Given the description of an element on the screen output the (x, y) to click on. 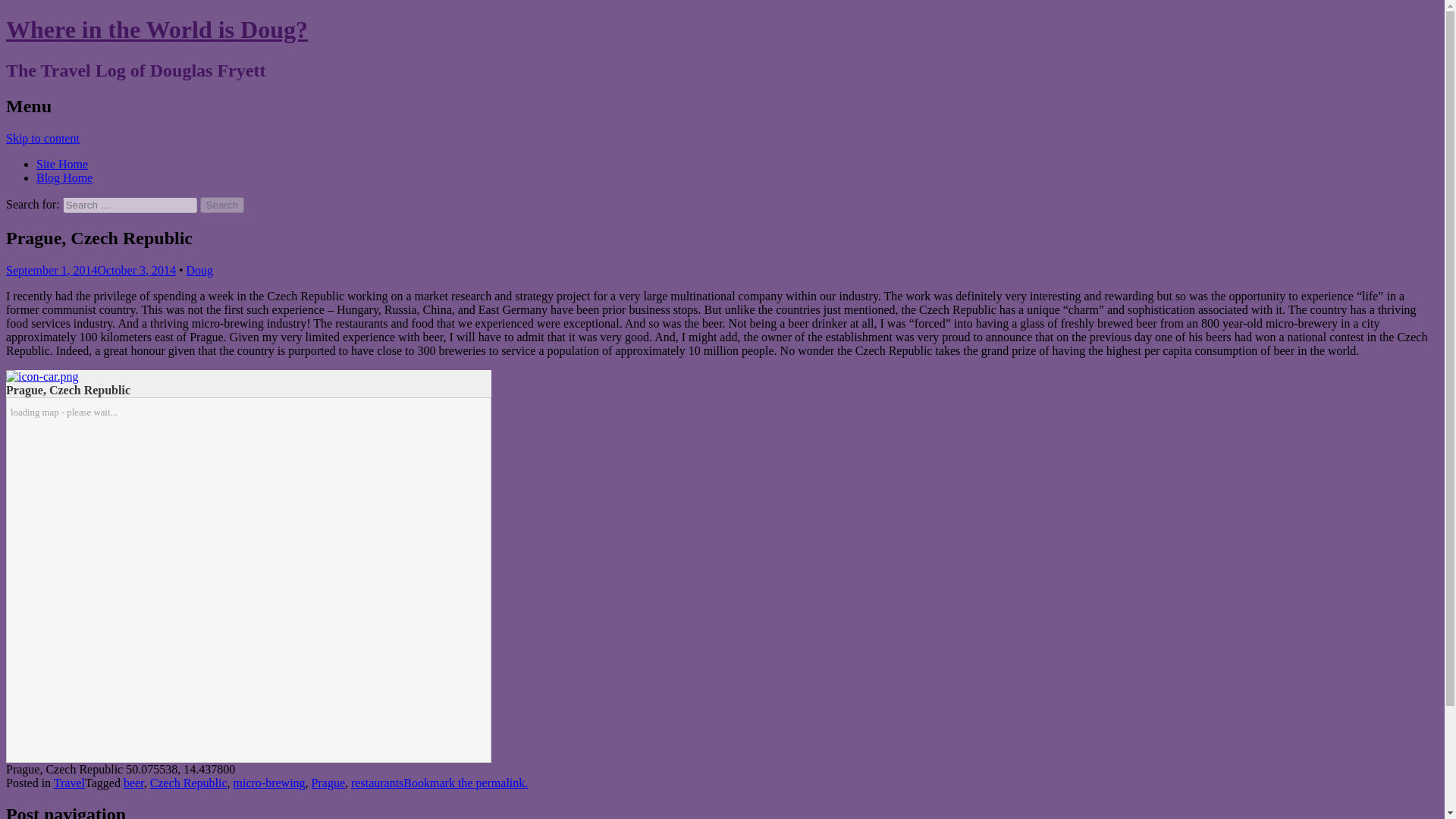
Where in the World is Doug? (156, 29)
Prague (328, 782)
Travel (68, 782)
Skip to content (42, 137)
restaurants (376, 782)
Czech Republic (188, 782)
Blog Home (64, 177)
Get directions (41, 376)
Search (222, 204)
micro-brewing (268, 782)
